Given the description of an element on the screen output the (x, y) to click on. 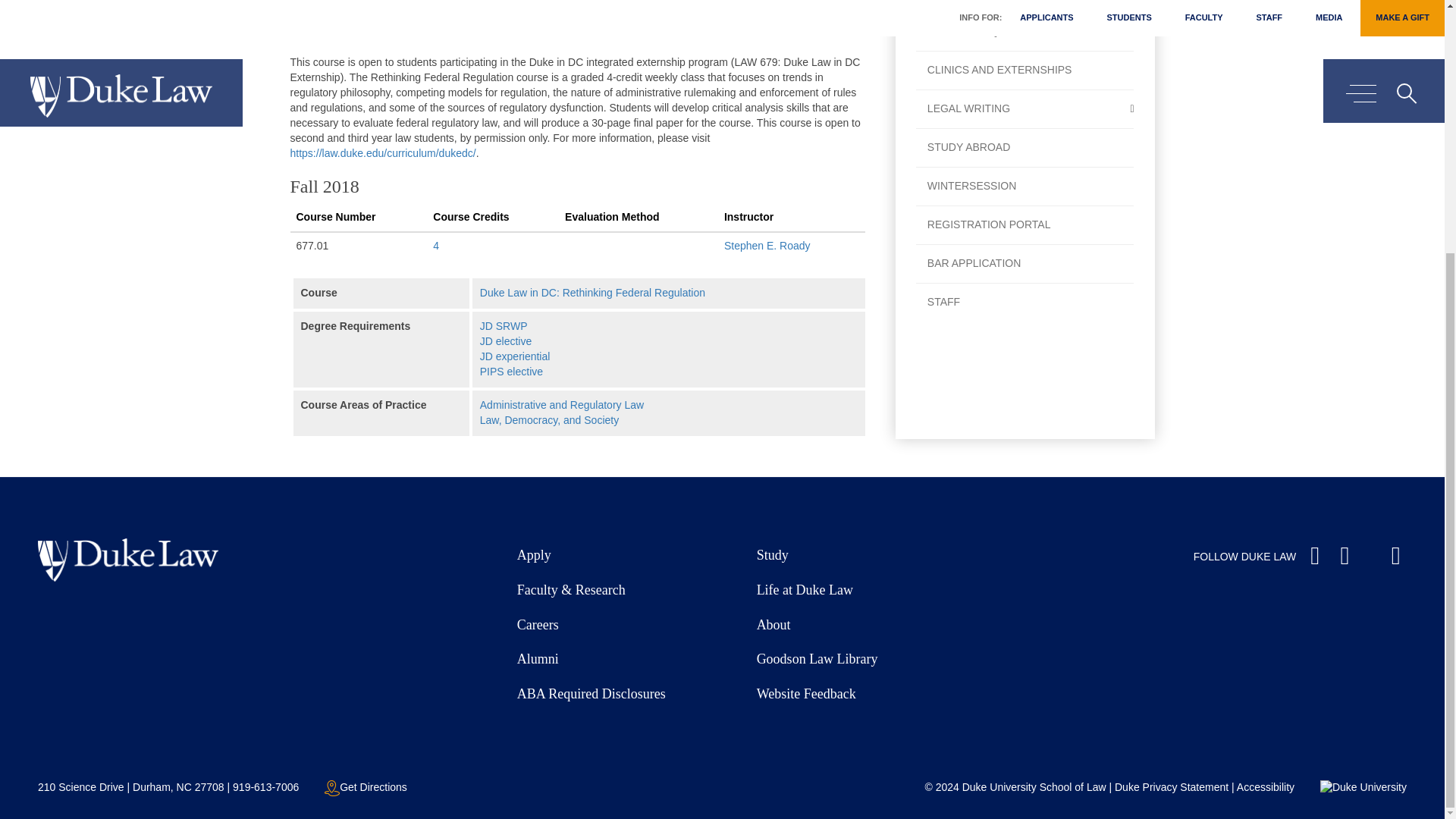
Course Browser (1024, 6)
